Given the description of an element on the screen output the (x, y) to click on. 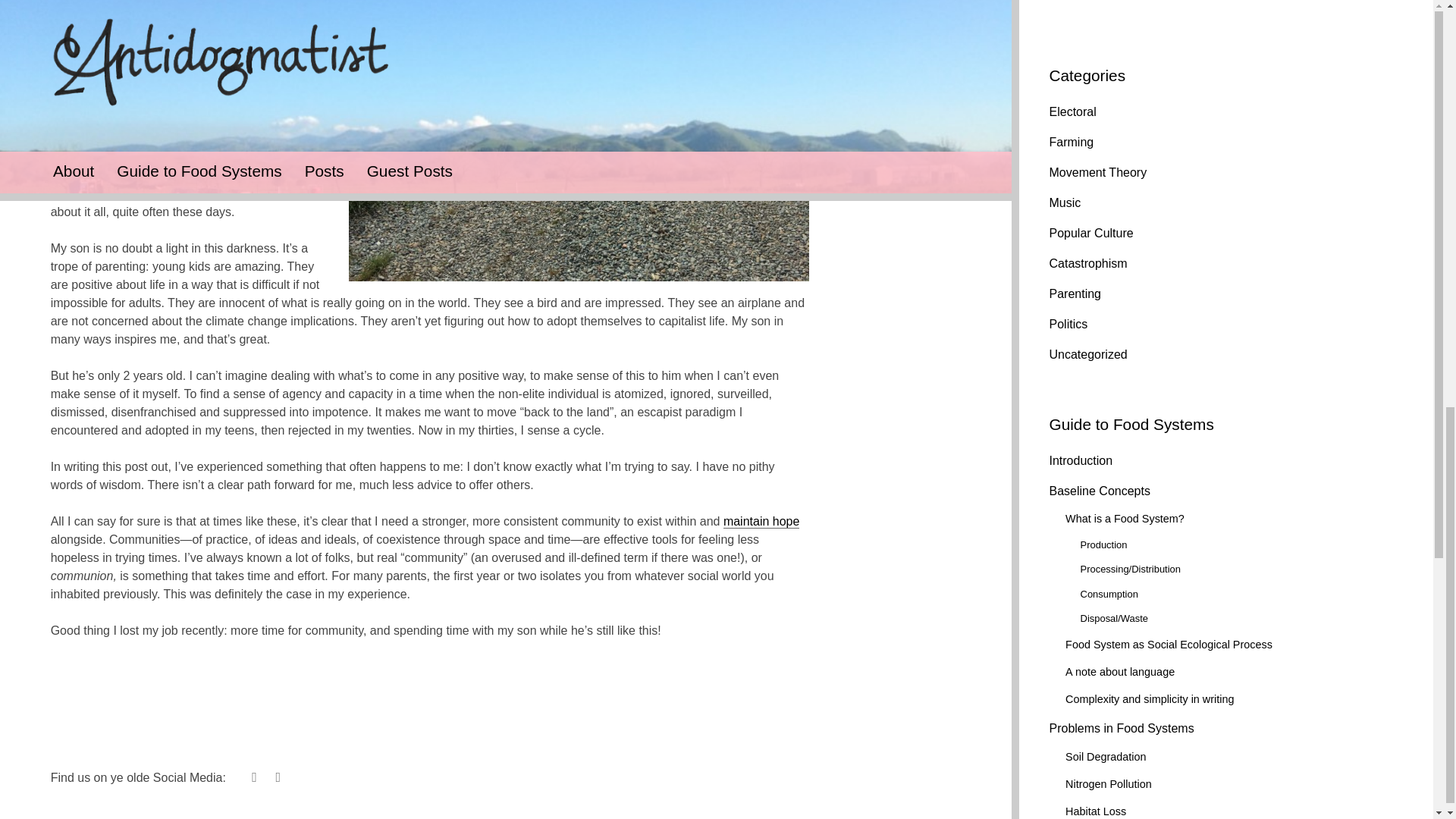
Facebook (276, 779)
maintain hope (761, 521)
Twitter (253, 779)
environmental (278, 48)
